Given the description of an element on the screen output the (x, y) to click on. 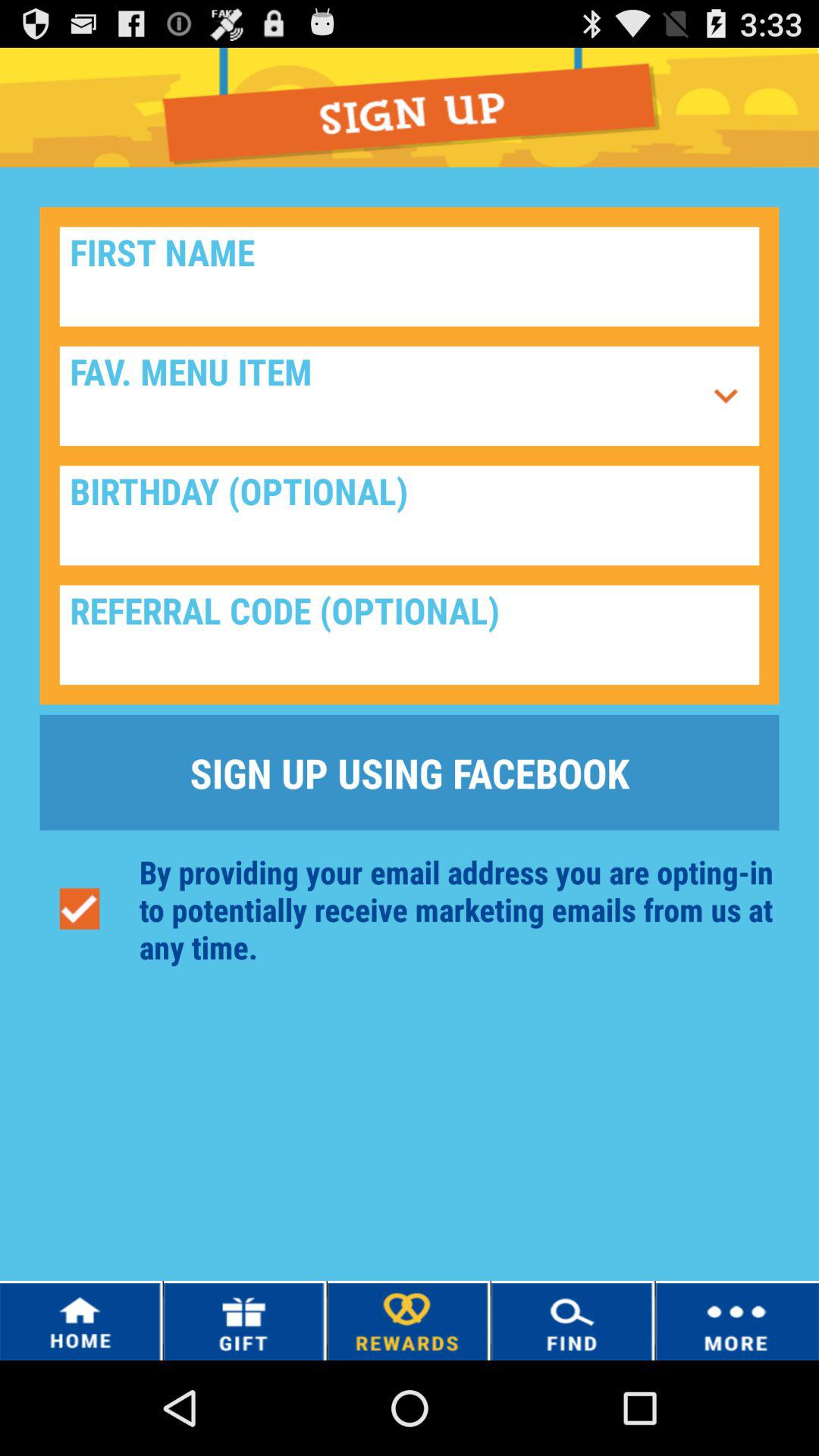
referral code optional (409, 634)
